Given the description of an element on the screen output the (x, y) to click on. 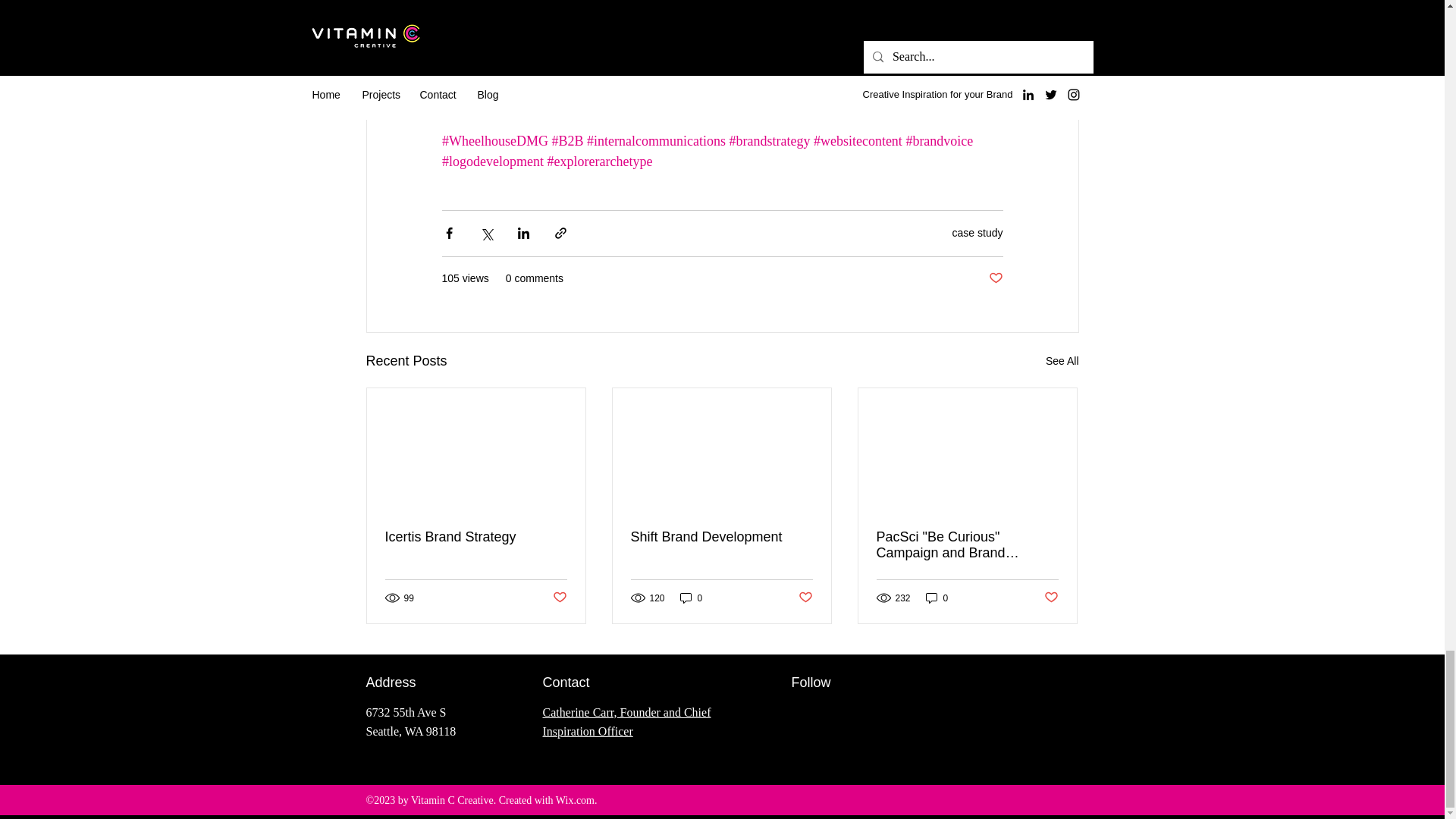
Andrew Wicklund Design (512, 79)
Post not marked as liked (995, 278)
case study (977, 232)
See All (1061, 361)
